Given the description of an element on the screen output the (x, y) to click on. 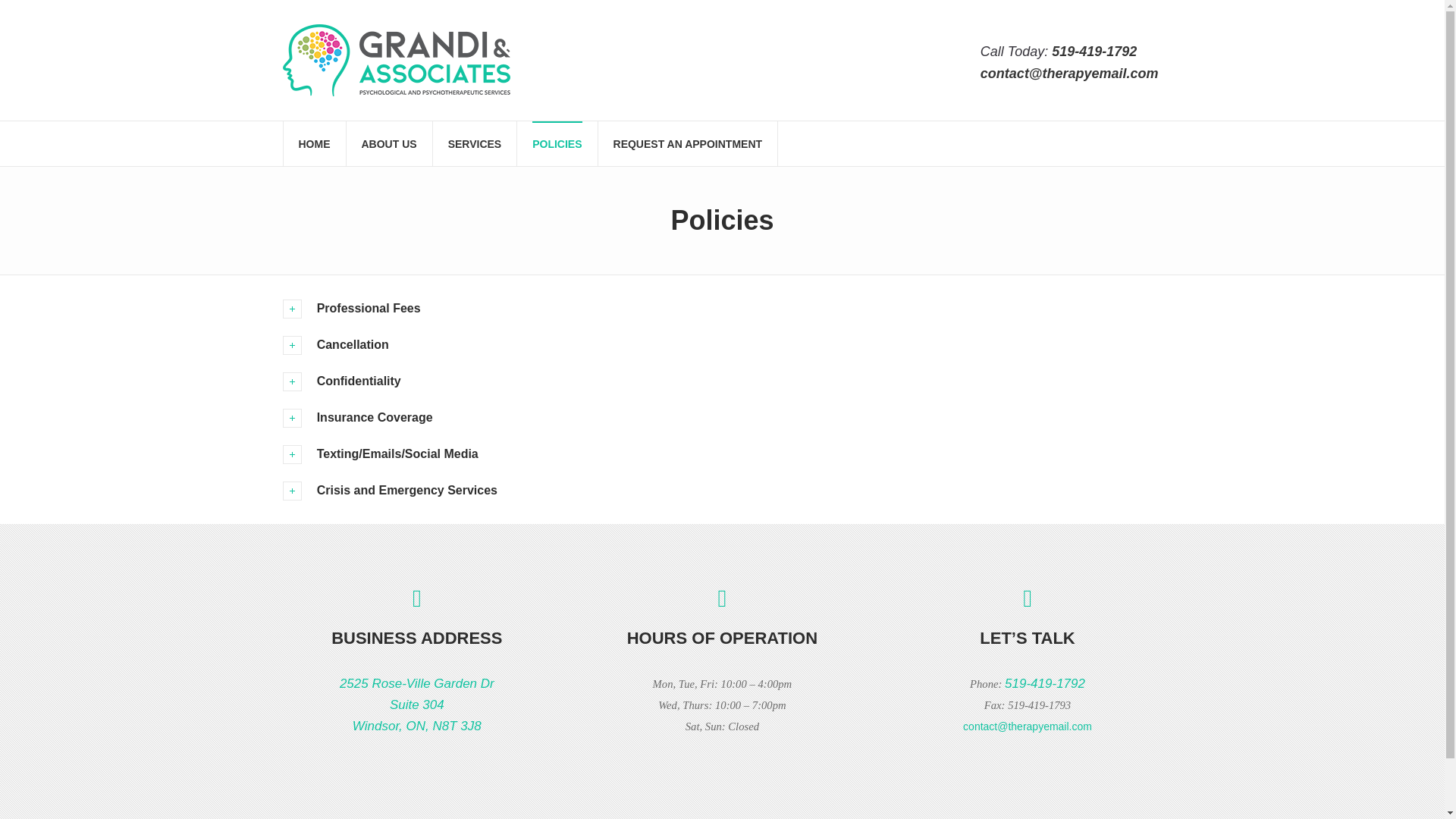
Confidentiality (721, 381)
Professional Fees (721, 308)
519-419-1792 (1044, 683)
519-419-1792 (1094, 51)
Insurance Coverage (721, 417)
REQUEST AN APPOINTMENT (687, 143)
ABOUT US (388, 143)
HOME (314, 143)
POLICIES (556, 143)
Crisis and Emergency Services (721, 490)
SERVICES (417, 704)
Cancellation (474, 143)
